Given the description of an element on the screen output the (x, y) to click on. 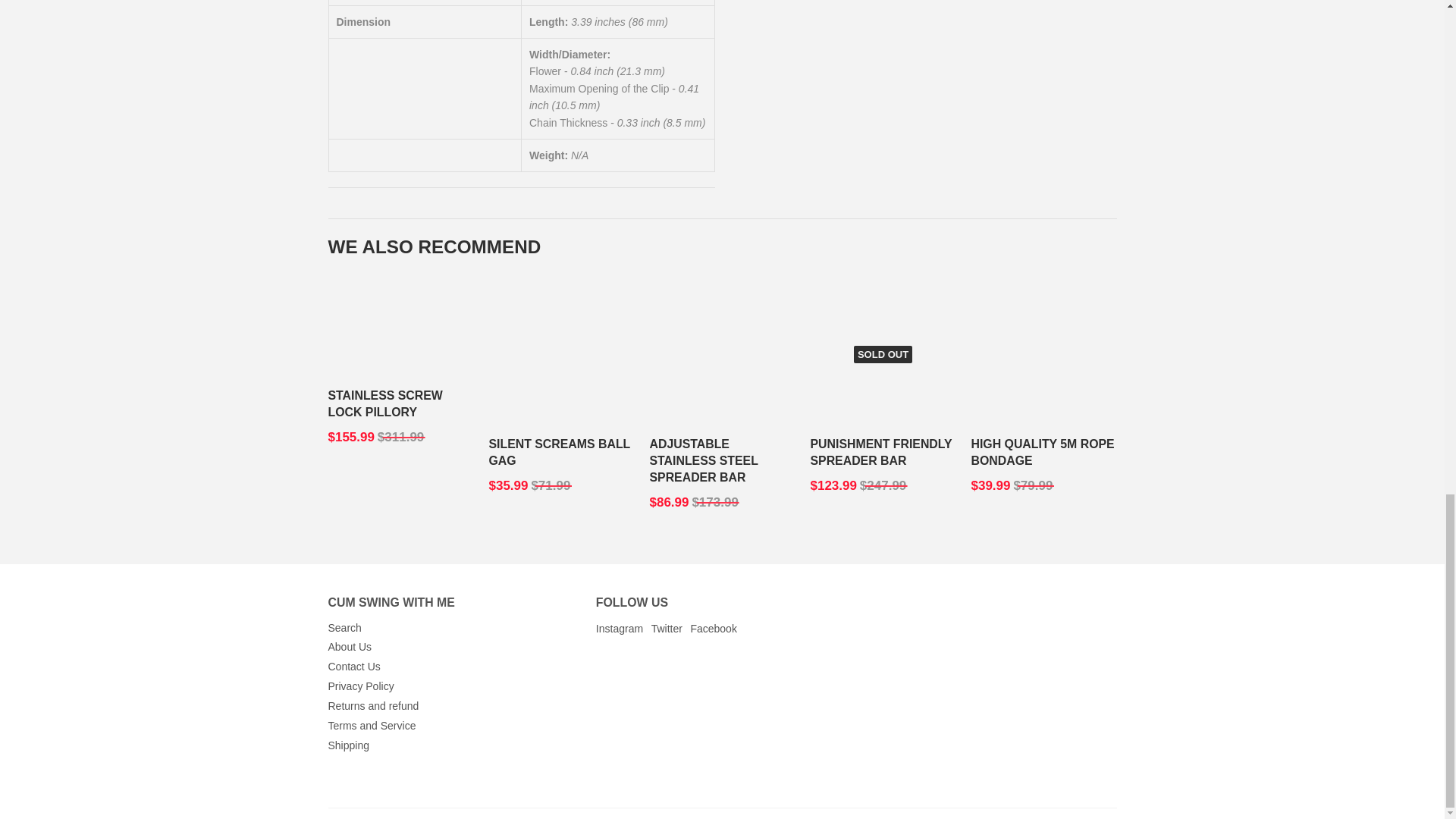
Cum Swing With Me on Twitter (666, 628)
Cum Swing With Me on Instagram (619, 628)
Cum Swing With Me on Facebook (713, 628)
